Given the description of an element on the screen output the (x, y) to click on. 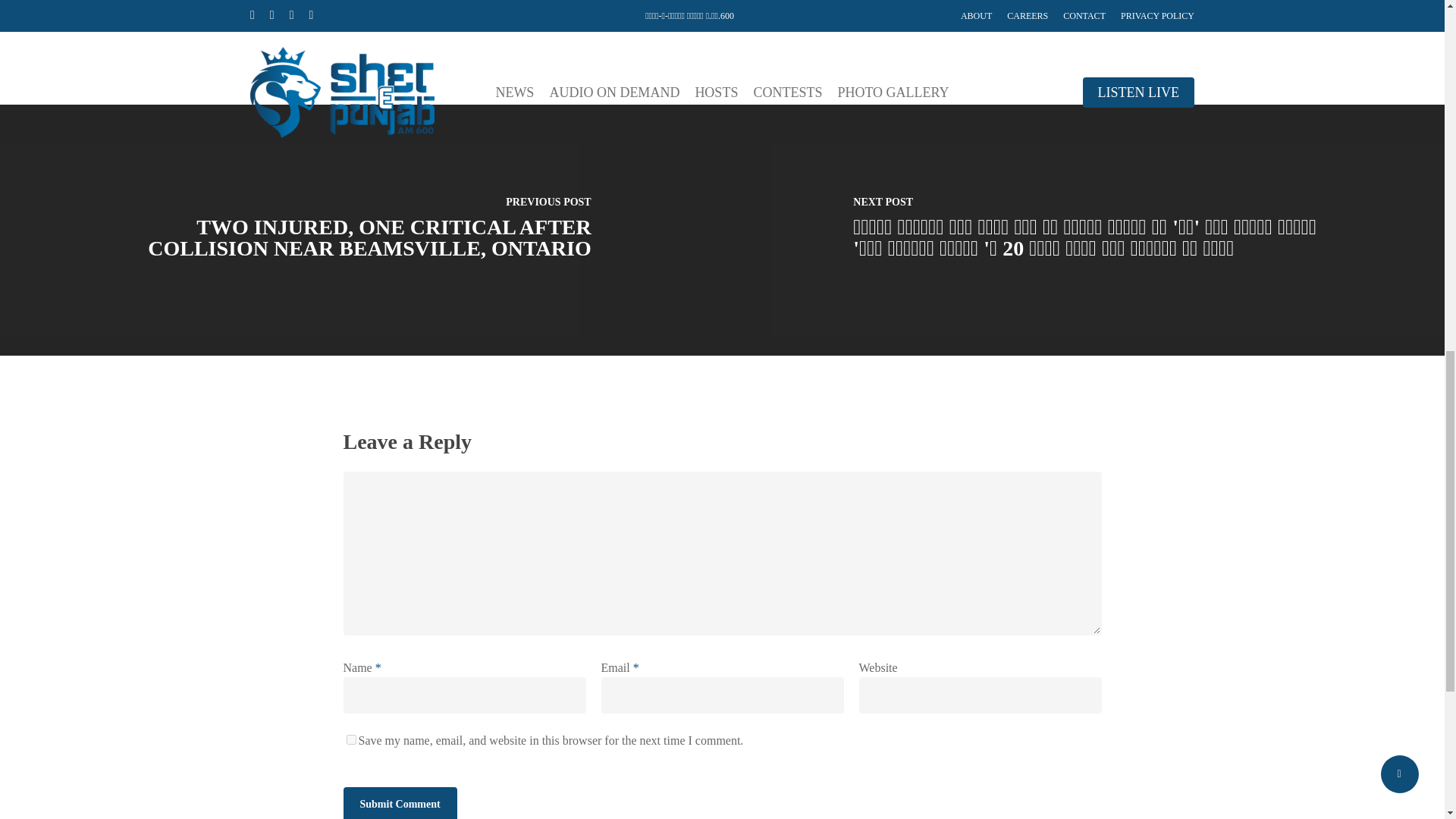
yes (350, 739)
Submit Comment (399, 803)
Submit Comment (399, 803)
